Given the description of an element on the screen output the (x, y) to click on. 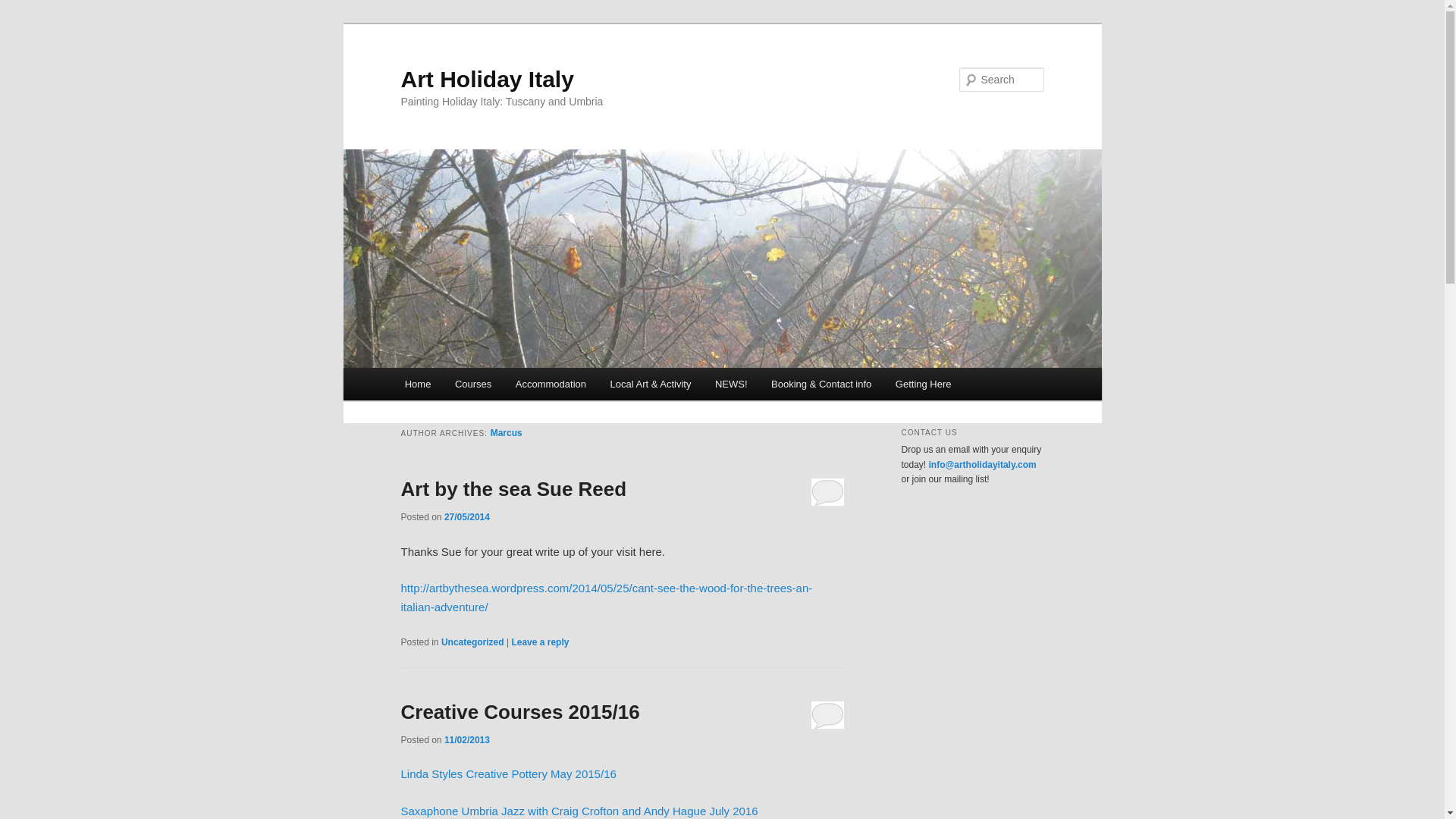
Art Holiday Italy (486, 78)
Uncategorized (472, 642)
Art by the sea Sue Reed (513, 488)
Courses (472, 383)
NEWS! (730, 383)
SUE READ VISIT (606, 596)
Marcus (506, 432)
Leave a reply (540, 642)
10:15 am (466, 516)
Craig Crofton (578, 810)
